Given the description of an element on the screen output the (x, y) to click on. 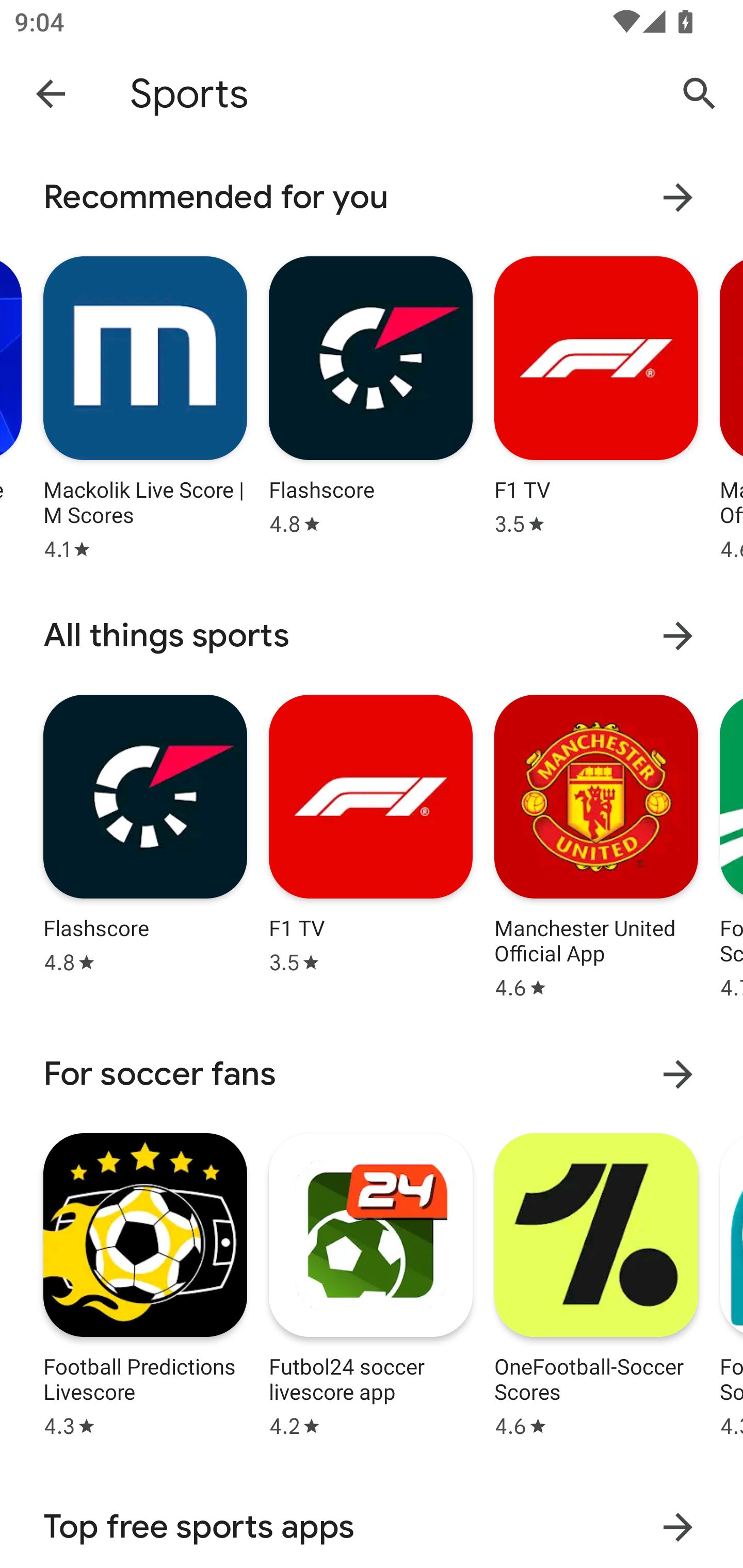
Navigate up (50, 92)
Search Google Play (699, 93)
More results for Recommended for you (677, 197)
App: Flashscore
Star rating: 4.8


 (370, 405)
App: F1 TV
Star rating: 3.5


 (595, 405)
More results for All things sports (677, 635)
App: Flashscore
Star rating: 4.8


 (144, 844)
App: F1 TV
Star rating: 3.5


 (370, 844)
For soccer fans
 More results for For soccer fans (371, 1073)
More results for For soccer fans (677, 1074)
App: OneFootball-Soccer Scores
Star rating: 4.6


 (595, 1282)
More results for Top free sports apps (677, 1527)
